Given the description of an element on the screen output the (x, y) to click on. 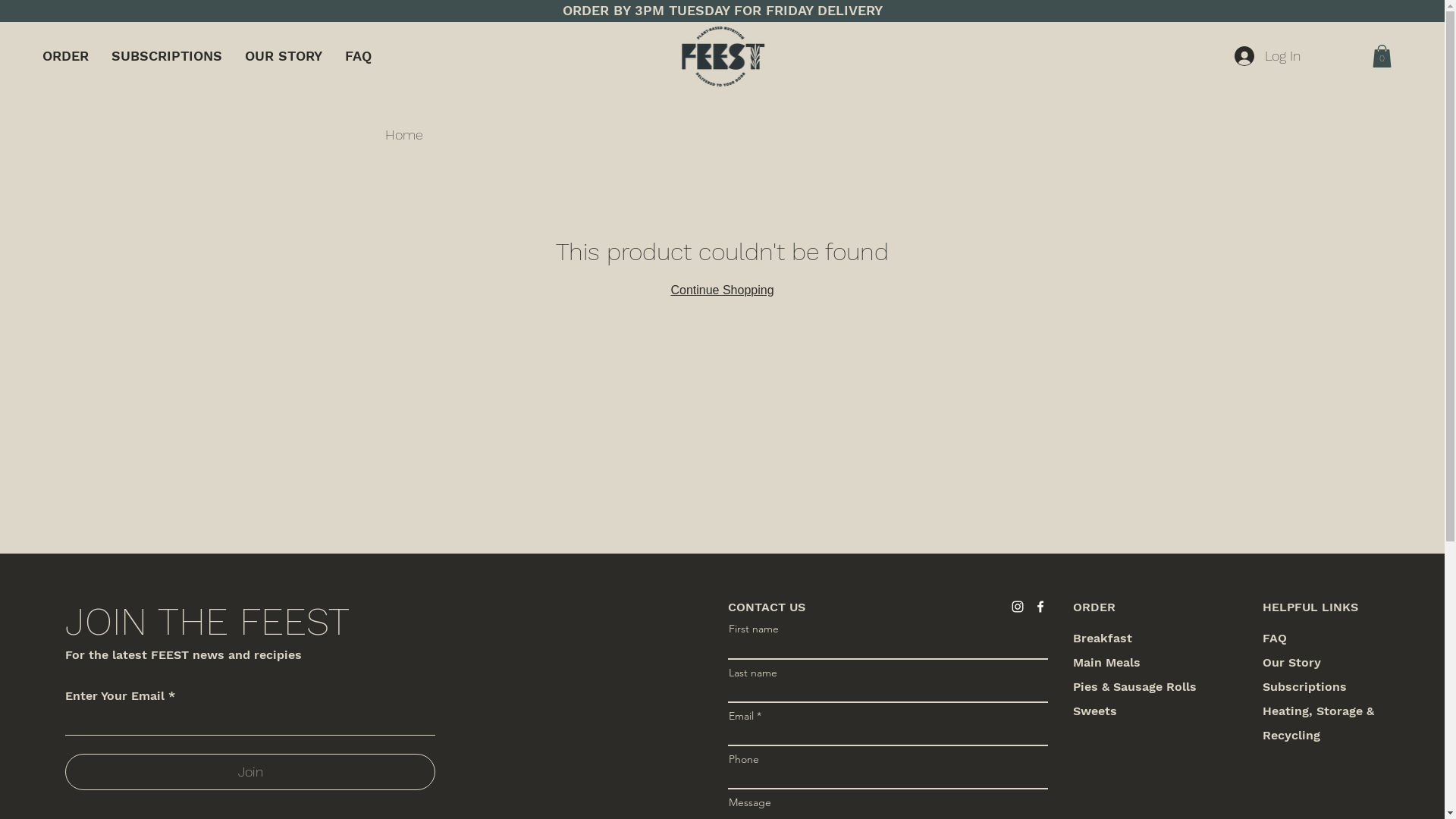
0 Element type: text (1381, 55)
OUR STORY Element type: text (283, 55)
Log In Element type: text (1267, 55)
Main Meals Element type: text (1106, 662)
FAQ Element type: text (1274, 637)
Breakfast Element type: text (1102, 637)
Sweets Element type: text (1095, 710)
FAQ Element type: text (357, 55)
ORDER Element type: text (65, 55)
Our Story Element type: text (1291, 662)
Pies & Sausage Rolls Element type: text (1134, 686)
Continue Shopping Element type: text (721, 289)
Join Element type: text (250, 771)
SUBSCRIPTIONS Element type: text (166, 55)
Home Element type: text (404, 134)
Subscriptions Element type: text (1304, 686)
Heating, Storage & Recycling Element type: text (1318, 722)
